Given the description of an element on the screen output the (x, y) to click on. 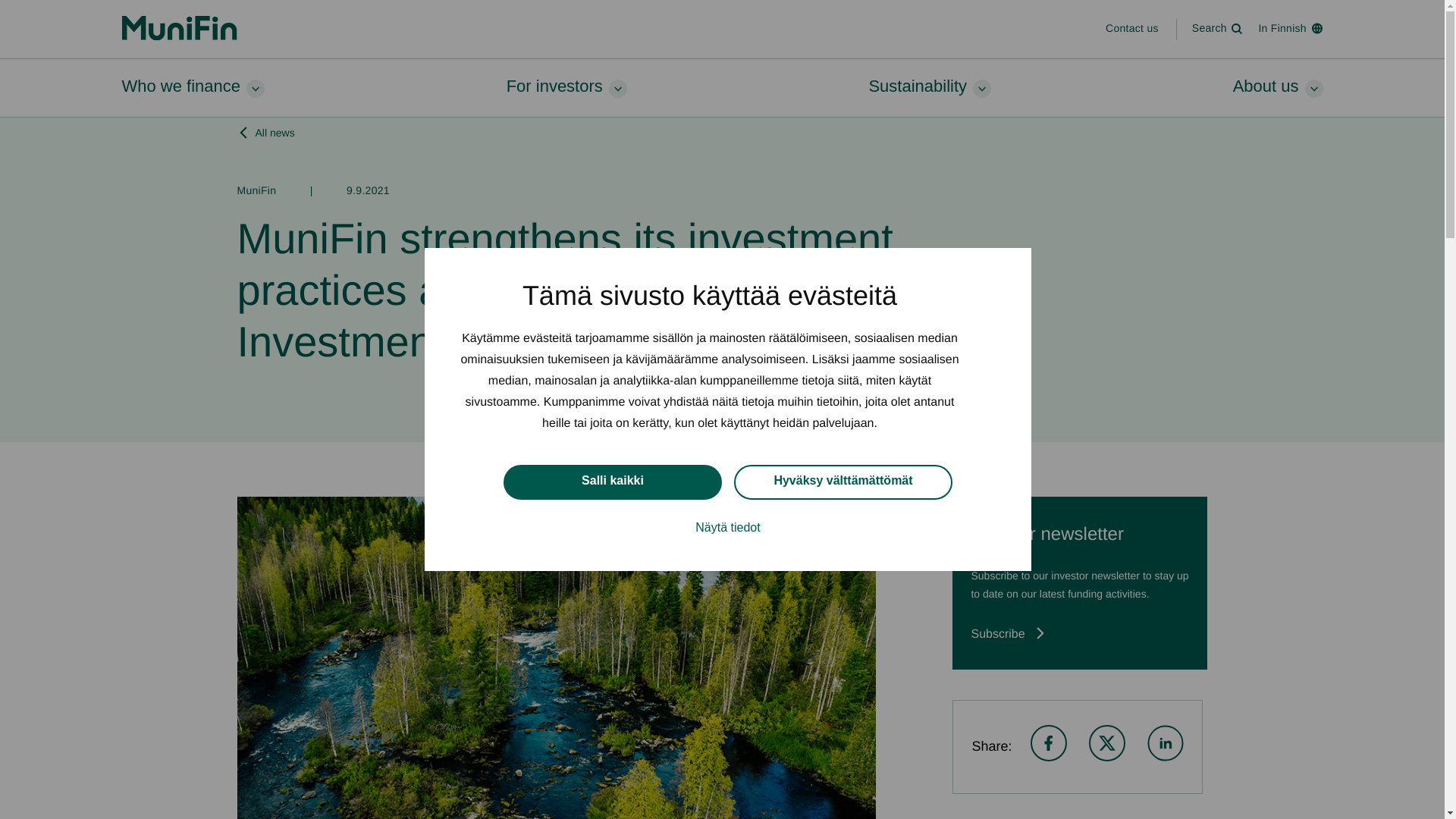
Salli kaikki (612, 492)
